Given the description of an element on the screen output the (x, y) to click on. 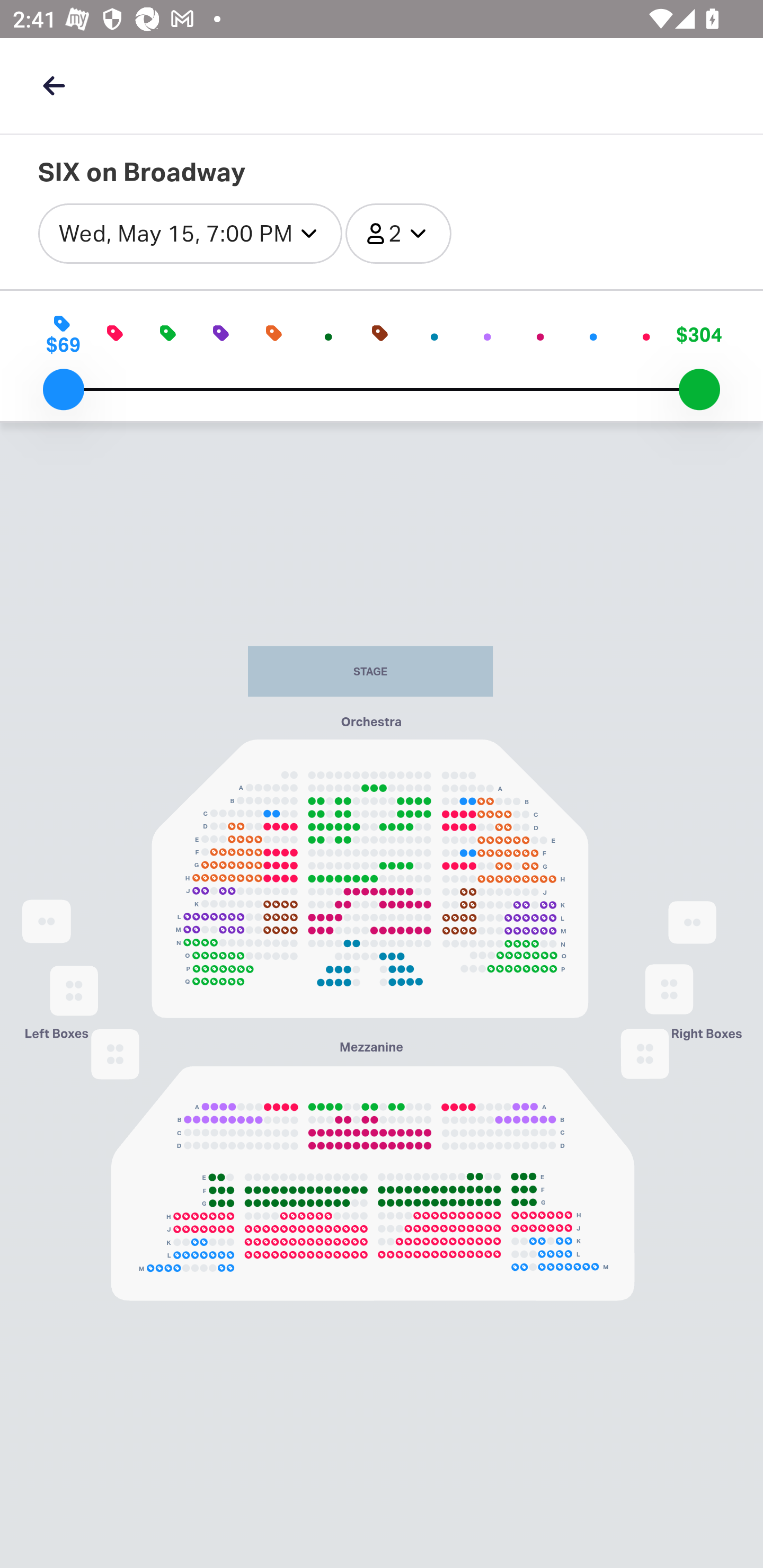
back button (53, 85)
